Given the description of an element on the screen output the (x, y) to click on. 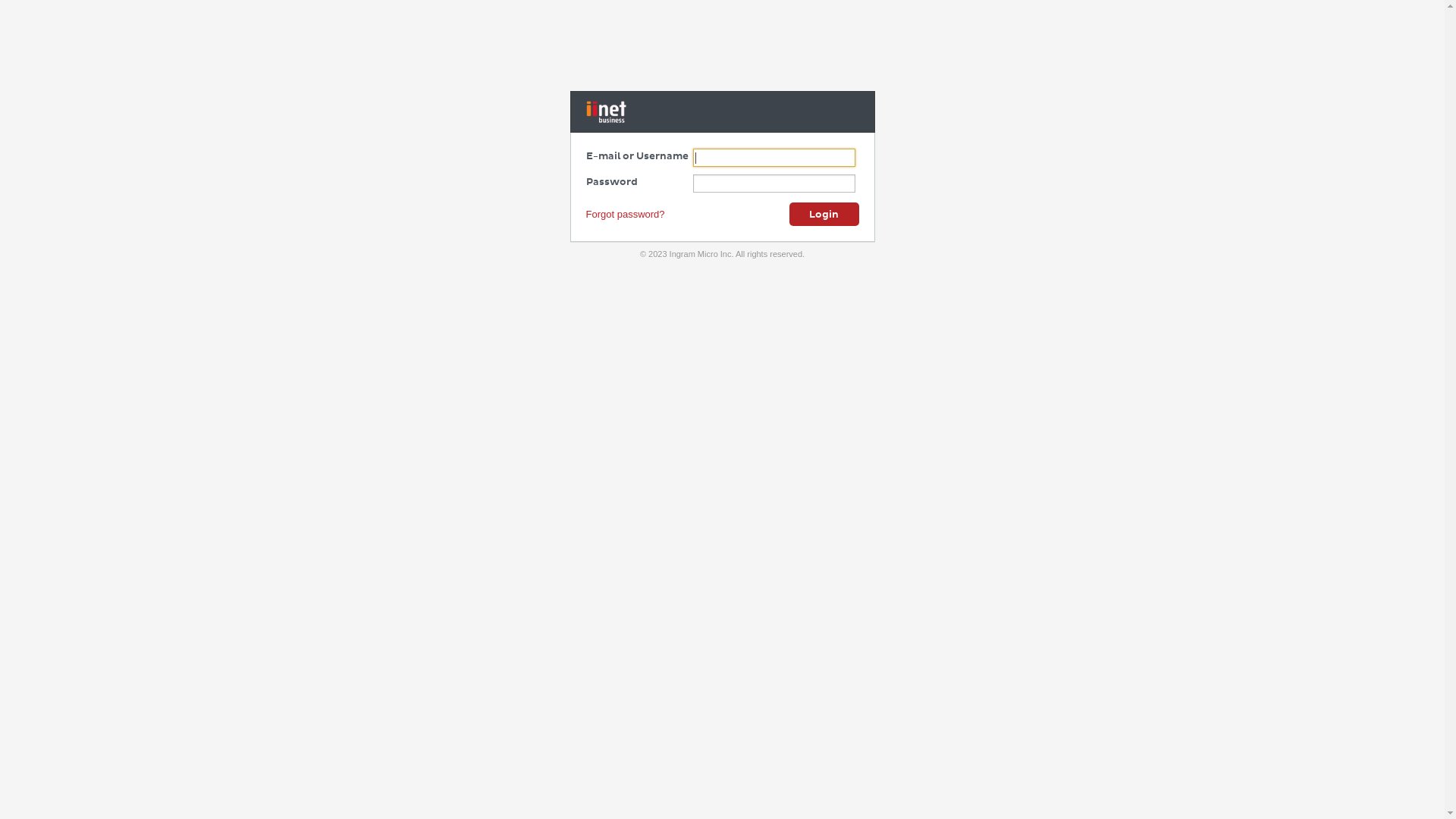
Login Element type: text (823, 214)
Forgot password? Element type: text (624, 213)
